Given the description of an element on the screen output the (x, y) to click on. 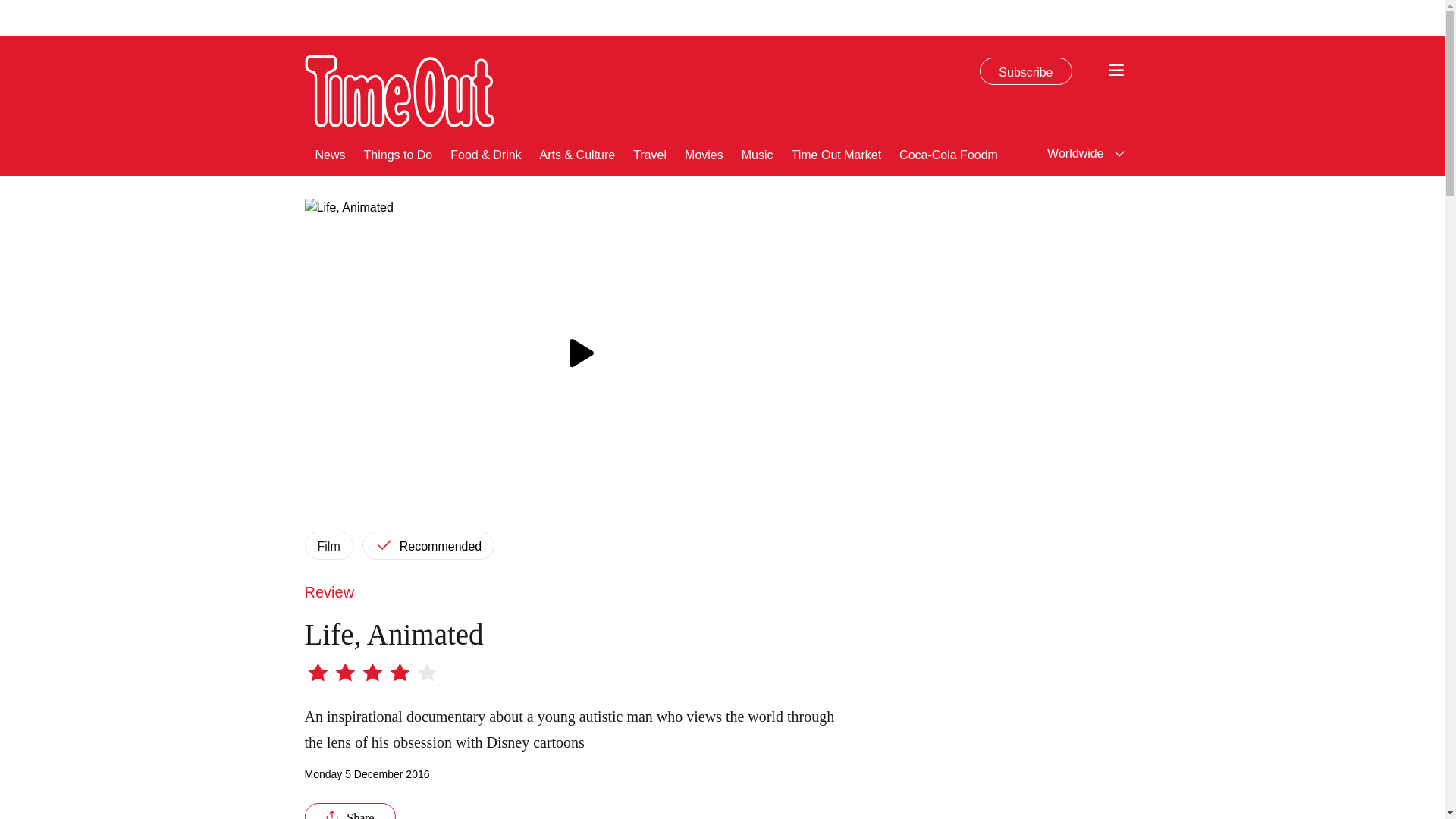
Travel (649, 153)
Music (756, 153)
Go to the content (10, 7)
News (330, 153)
Coca-Cola Foodmarks (960, 153)
Things to Do (397, 153)
Movies (703, 153)
Subscribe (1025, 71)
Time Out Market (836, 153)
